Given the description of an element on the screen output the (x, y) to click on. 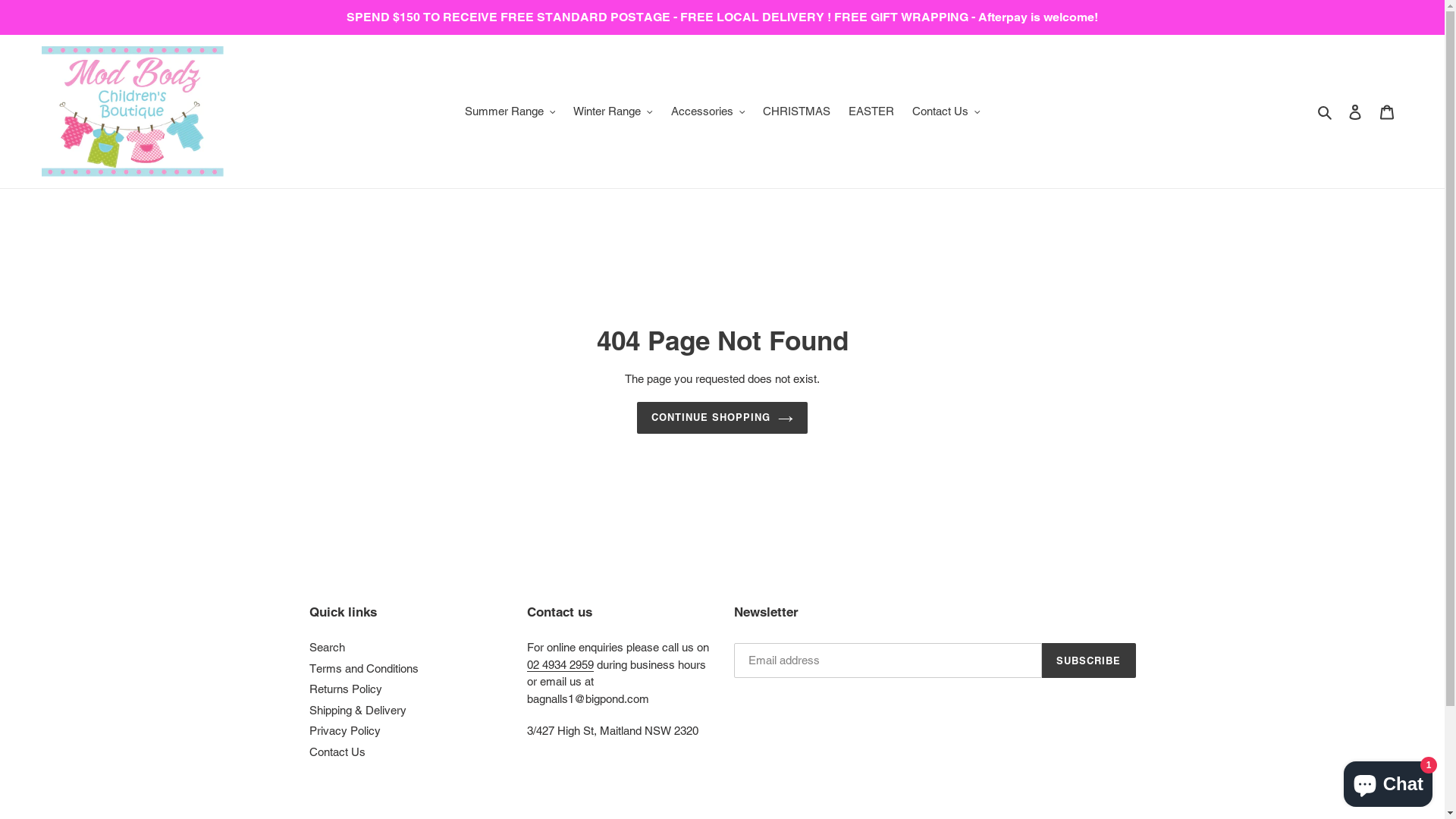
Contact Us Element type: text (337, 751)
Winter Range Element type: text (612, 111)
Shopify online store chat Element type: hover (1388, 780)
Privacy Policy Element type: text (344, 730)
02 4934 2959 Element type: text (560, 664)
SUBSCRIBE Element type: text (1088, 660)
Shipping & Delivery Element type: text (357, 709)
Terms and Conditions Element type: text (363, 668)
CONTINUE SHOPPING Element type: text (722, 417)
Returns Policy Element type: text (345, 688)
Search Element type: text (327, 646)
EASTER Element type: text (870, 111)
Log in Element type: text (1355, 111)
Accessories Element type: text (707, 111)
Search Element type: text (1325, 111)
Summer Range Element type: text (509, 111)
Cart Element type: text (1386, 111)
CHRISTMAS Element type: text (796, 111)
Contact Us Element type: text (946, 111)
